Given the description of an element on the screen output the (x, y) to click on. 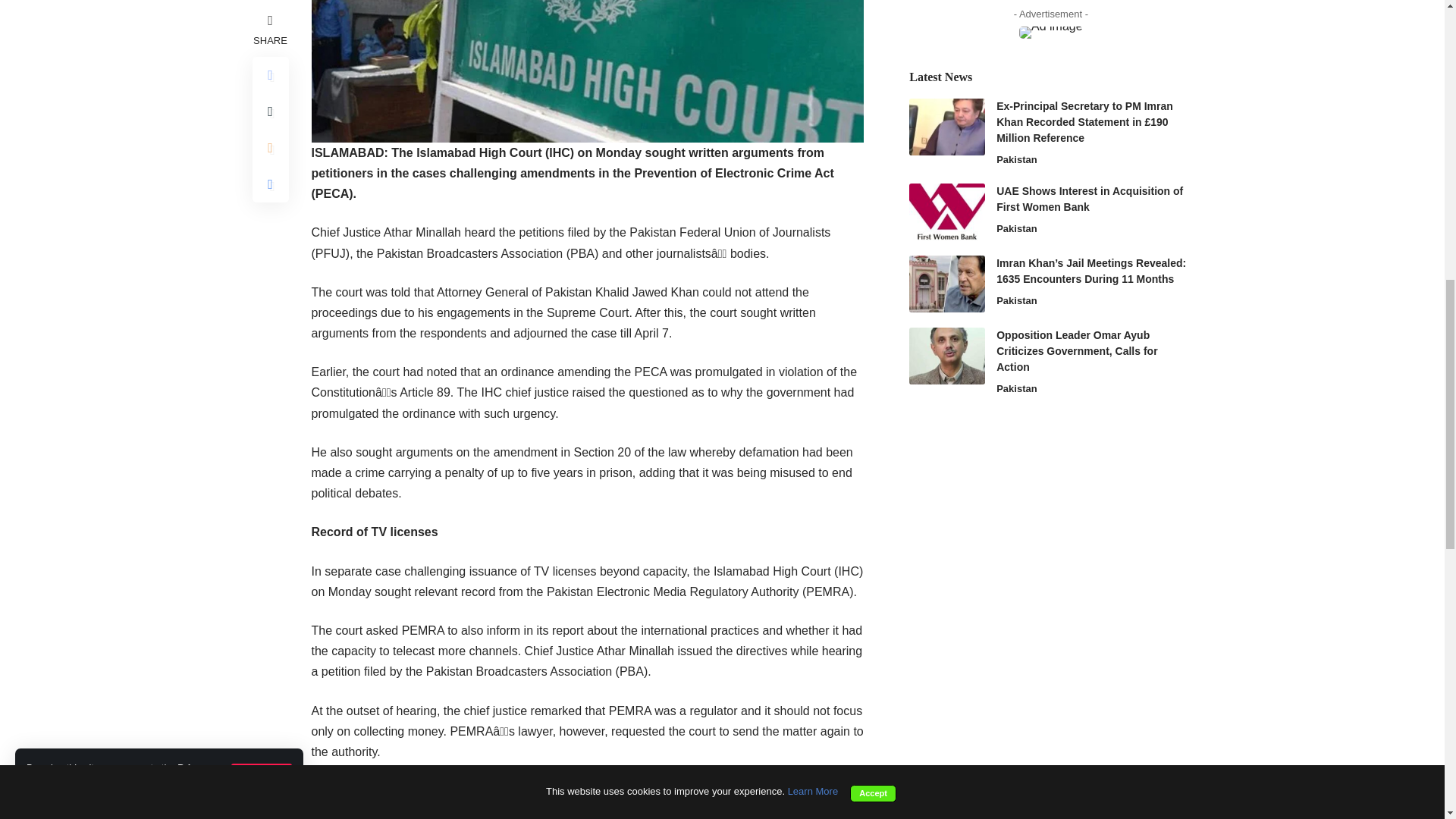
IHC seeks arguments in PECA case, record of TV licenses (587, 70)
